Given the description of an element on the screen output the (x, y) to click on. 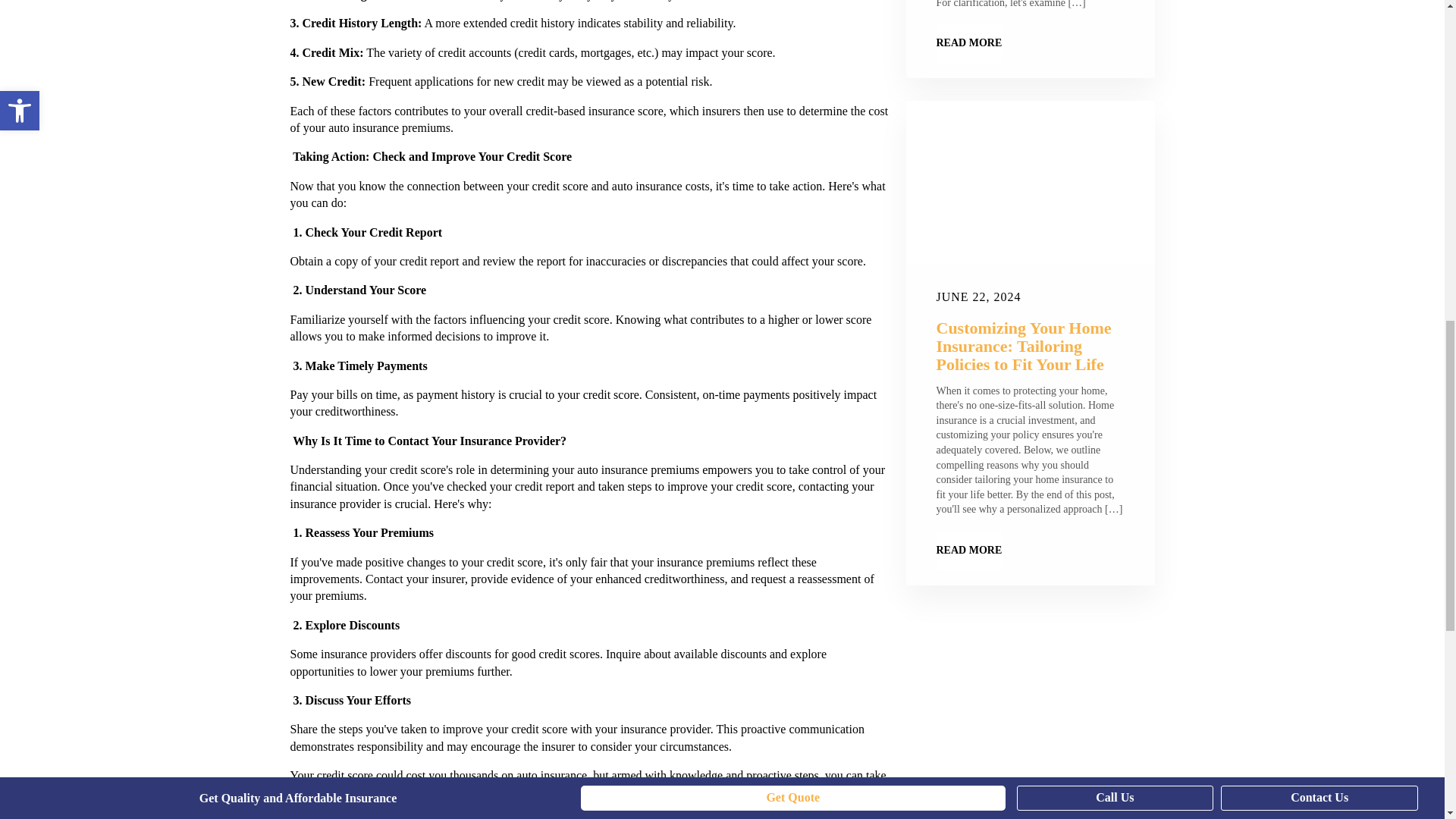
READ MORE (968, 550)
READ MORE (968, 43)
